Given the description of an element on the screen output the (x, y) to click on. 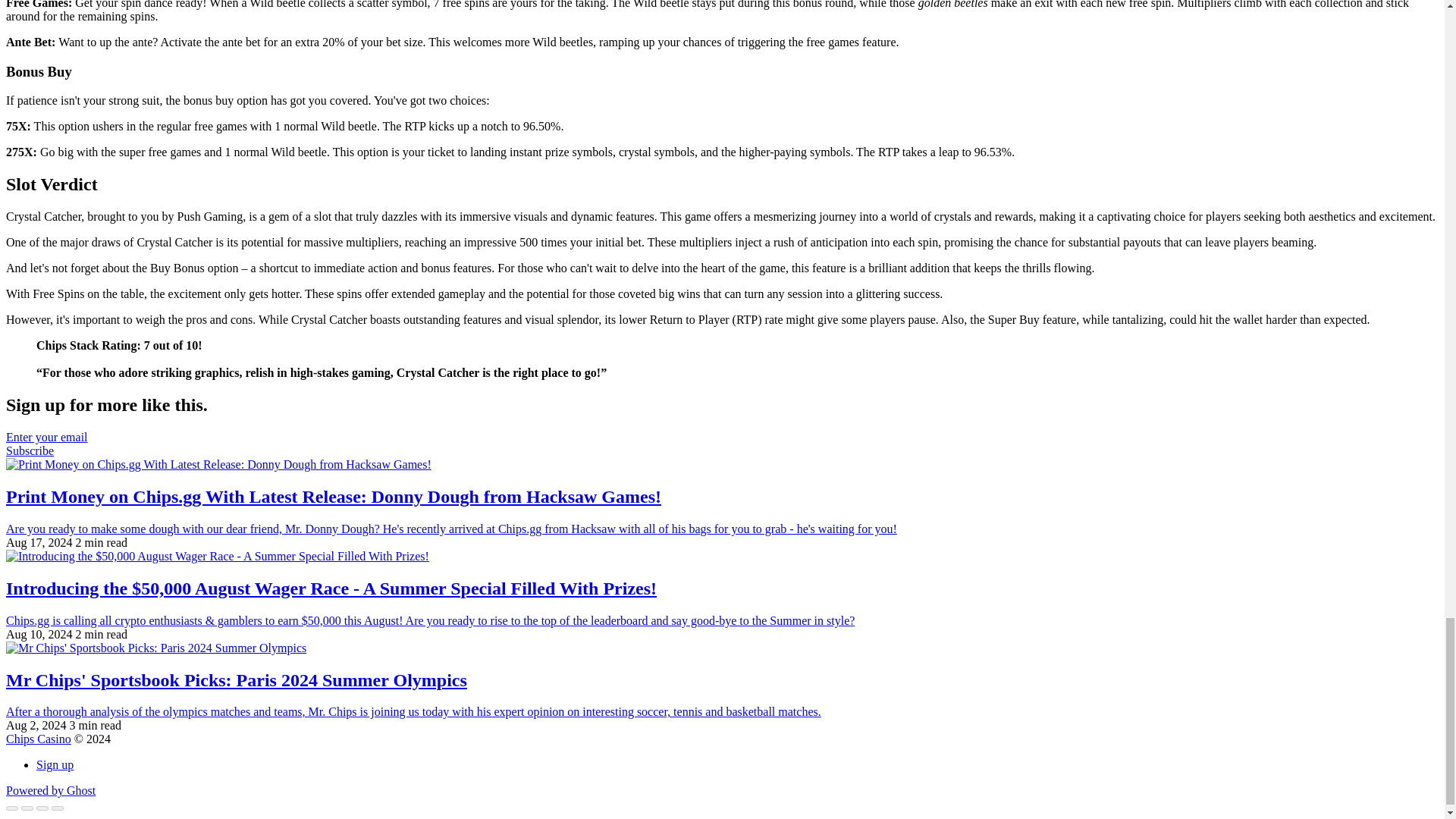
Share (27, 807)
Powered by Ghost (50, 789)
Chips Casino (38, 738)
Sign up (55, 764)
Toggle fullscreen (42, 807)
